Given the description of an element on the screen output the (x, y) to click on. 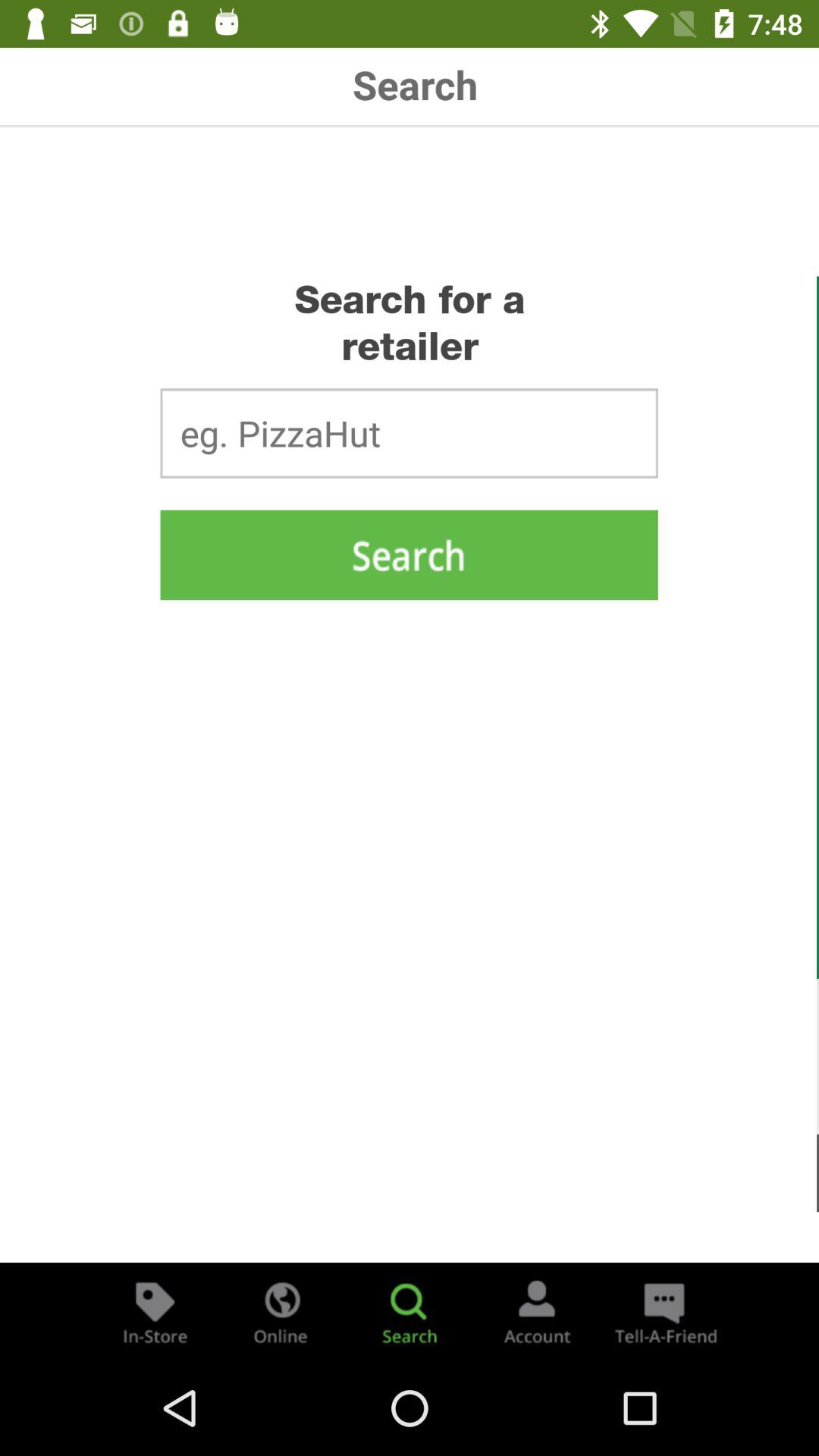
perform search (409, 555)
